Given the description of an element on the screen output the (x, y) to click on. 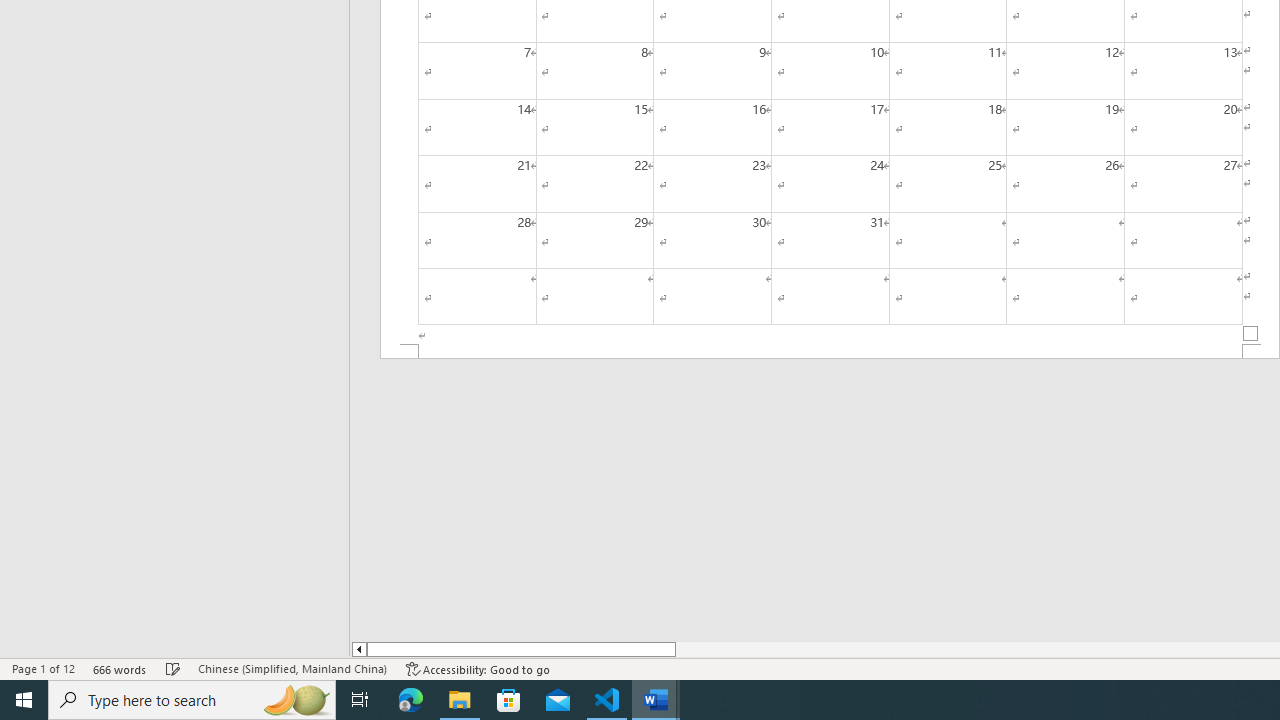
Page Number Page 1 of 12 (43, 668)
Language Chinese (Simplified, Mainland China) (292, 668)
Spelling and Grammar Check Checking (173, 668)
Column left (358, 649)
Footer -Section 1- (830, 351)
Accessibility Checker Accessibility: Good to go (478, 668)
Word Count 666 words (119, 668)
